Given the description of an element on the screen output the (x, y) to click on. 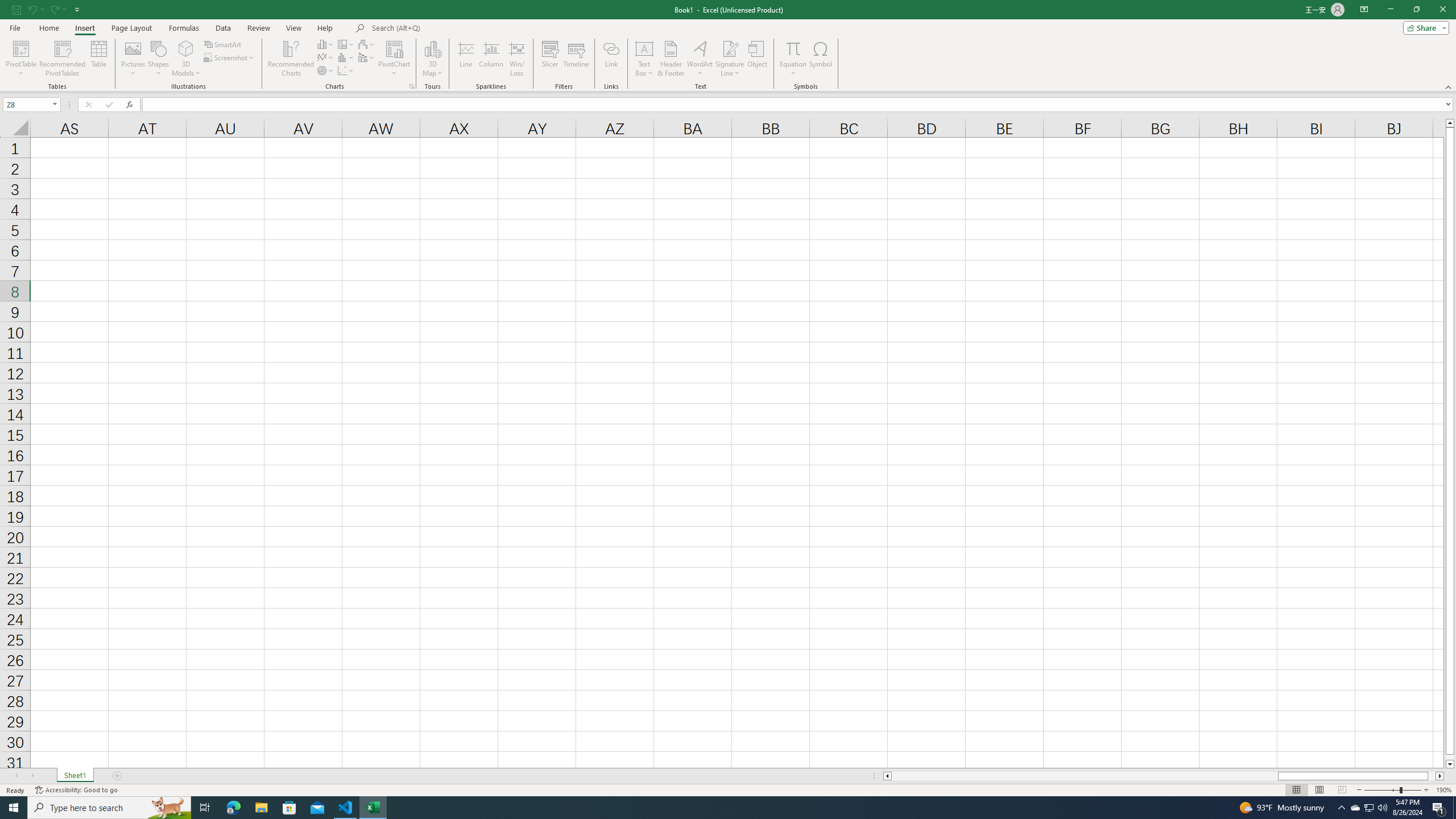
Equation (793, 58)
Equation (793, 48)
Link (611, 58)
PivotTable (20, 48)
Insert Combo Chart (366, 56)
Draw Horizontal Text Box (643, 48)
3D Models (186, 58)
Recommended PivotTables (62, 58)
3D Map (432, 48)
Microsoft search (450, 28)
Shapes (158, 58)
